Given the description of an element on the screen output the (x, y) to click on. 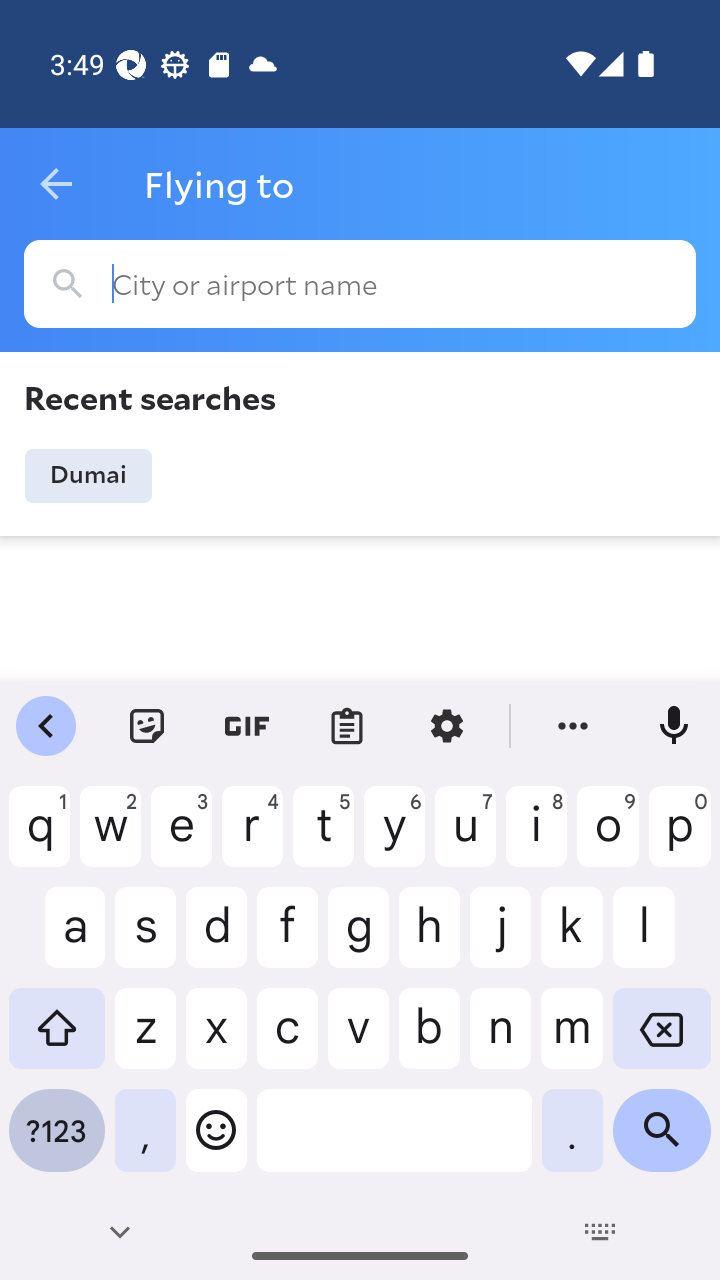
Navigate up (56, 184)
City or airport name (359, 283)
Dumai  Dumai (87, 476)
